Given the description of an element on the screen output the (x, y) to click on. 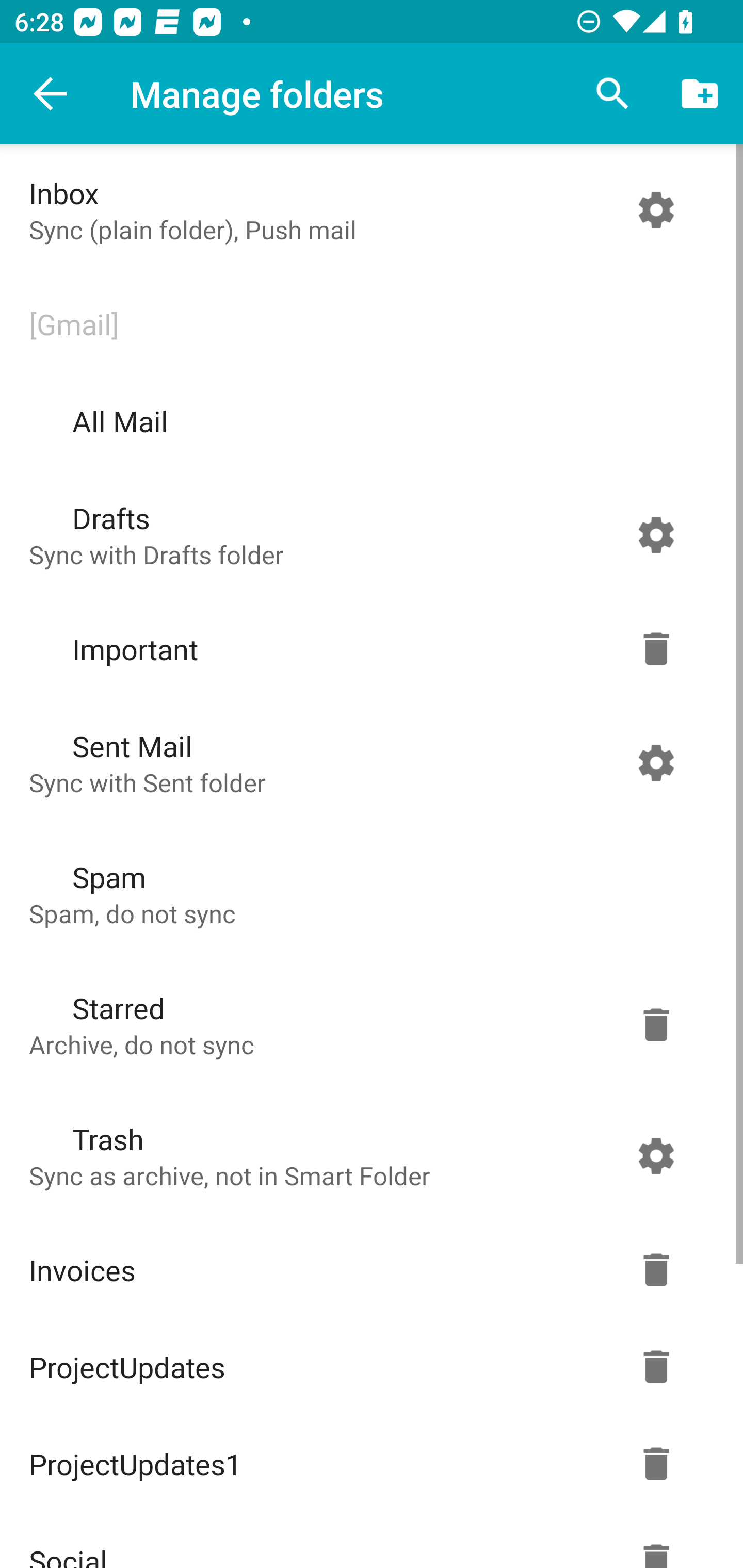
Navigate up (50, 93)
Search folders (612, 93)
Create folder (699, 93)
Folder settings (655, 209)
All Mail (367, 420)
Drafts Sync with Drafts folder Folder settings (367, 534)
Folder settings (655, 534)
Important Folder settings (367, 648)
Folder settings (655, 648)
Sent Mail Sync with Sent folder Folder settings (367, 762)
Folder settings (655, 762)
Spam Spam, do not sync (367, 893)
Starred Archive, do not sync Folder settings (367, 1024)
Folder settings (655, 1024)
Folder settings (655, 1155)
Invoices Folder settings (367, 1269)
Folder settings (655, 1269)
ProjectUpdates Folder settings (367, 1366)
Folder settings (655, 1366)
ProjectUpdates1 Folder settings (367, 1463)
Folder settings (655, 1463)
